Given the description of an element on the screen output the (x, y) to click on. 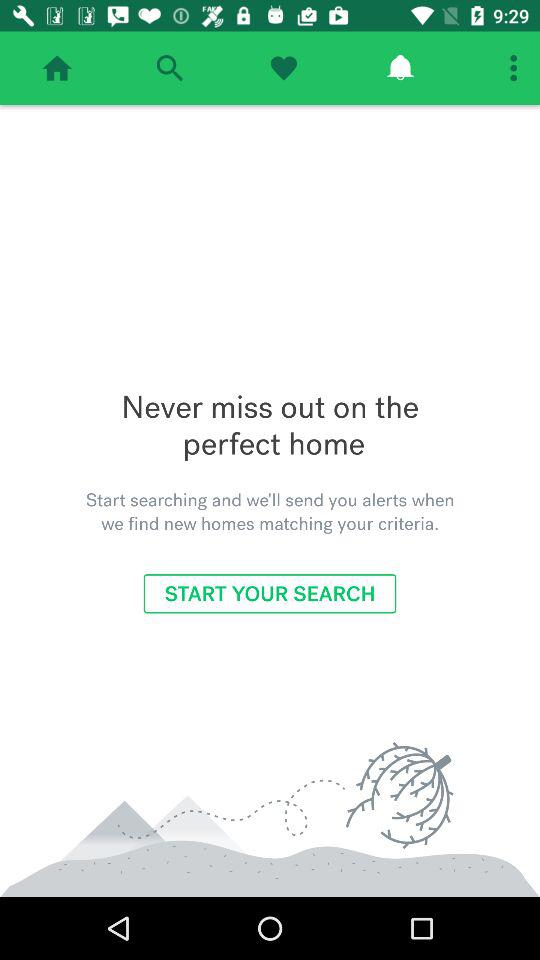
search areas (169, 68)
